Given the description of an element on the screen output the (x, y) to click on. 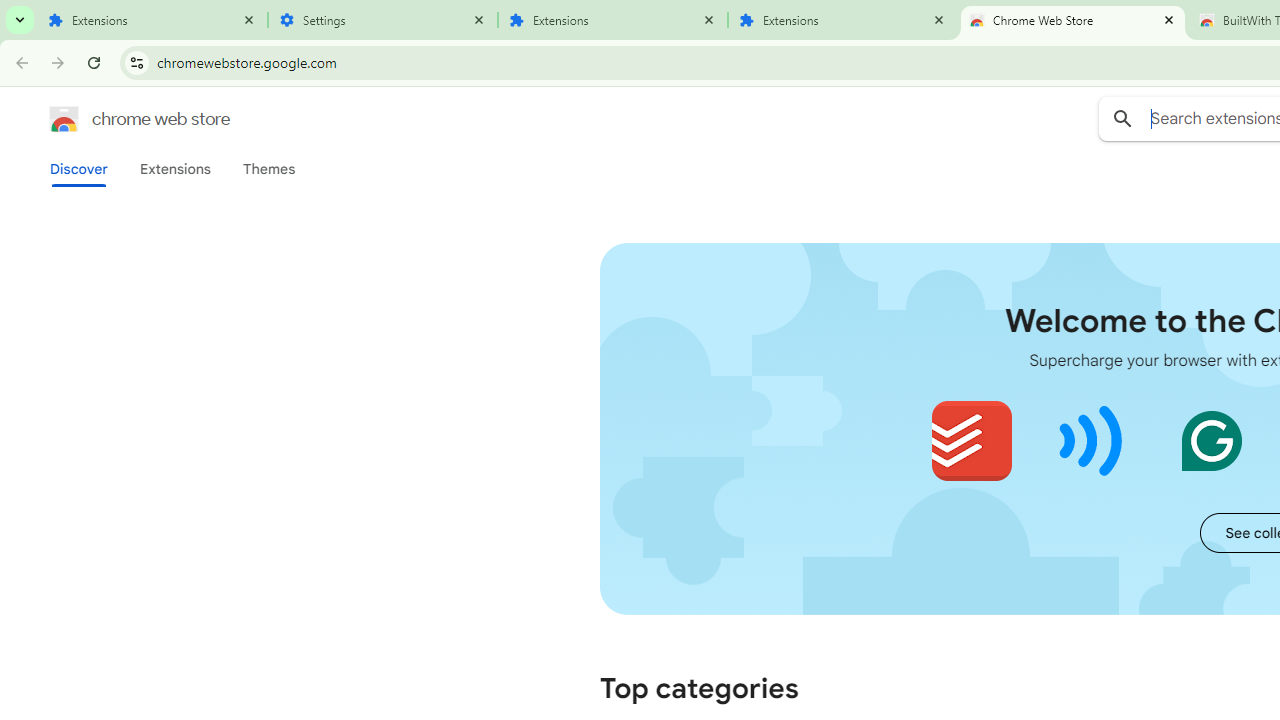
Settings (382, 20)
Chrome Web Store logo (63, 118)
Chrome Web Store logo chrome web store (118, 118)
Extensions (152, 20)
Grammarly: AI Writing and Grammar Checker App (1211, 440)
Volume Master (1091, 440)
Extensions (174, 169)
